Given the description of an element on the screen output the (x, y) to click on. 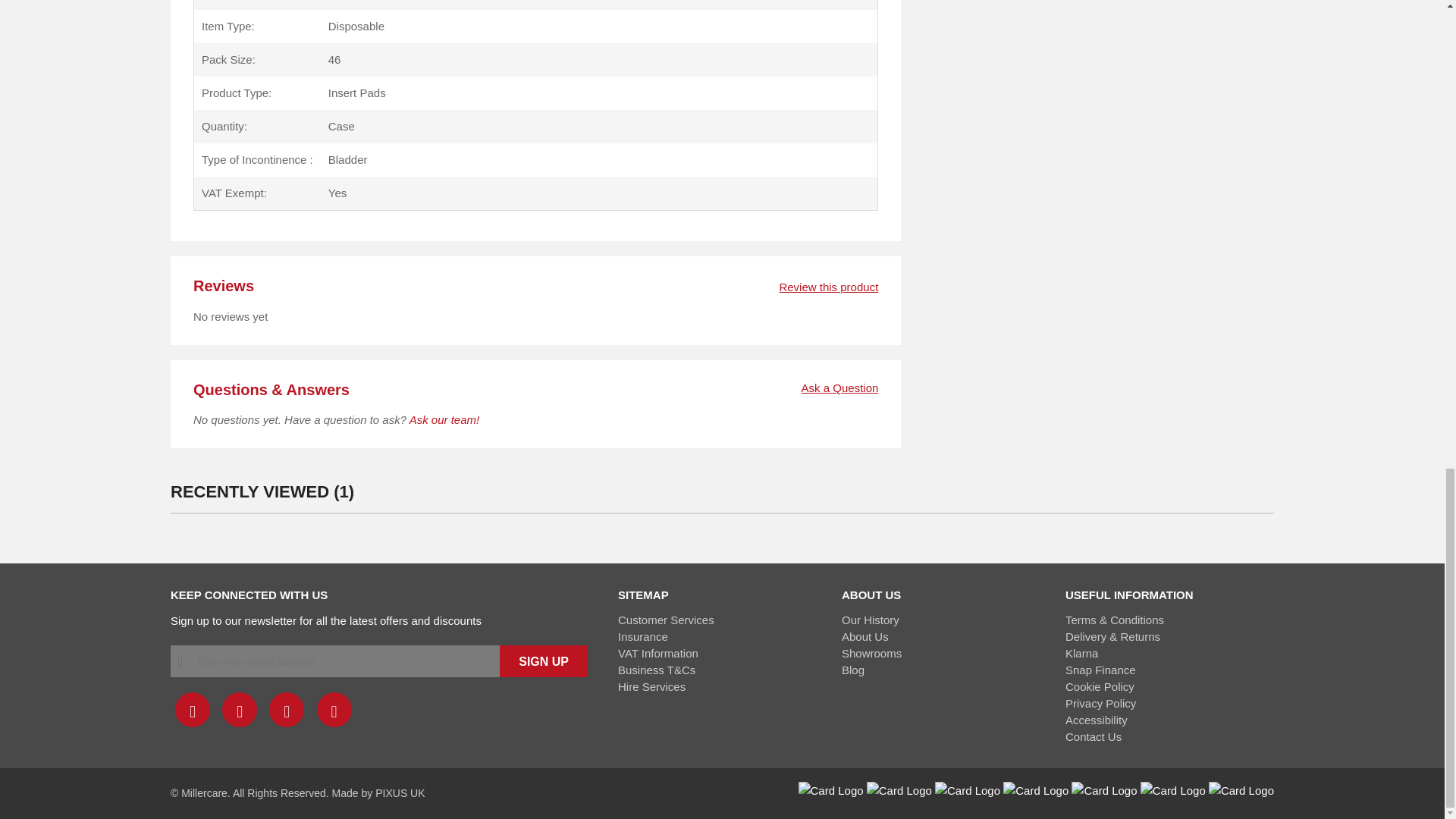
Facebook (191, 709)
YouTube (334, 709)
PIXUS Web Design (400, 793)
Sign Up (543, 661)
Instagram (286, 709)
Twitter (239, 709)
